Given the description of an element on the screen output the (x, y) to click on. 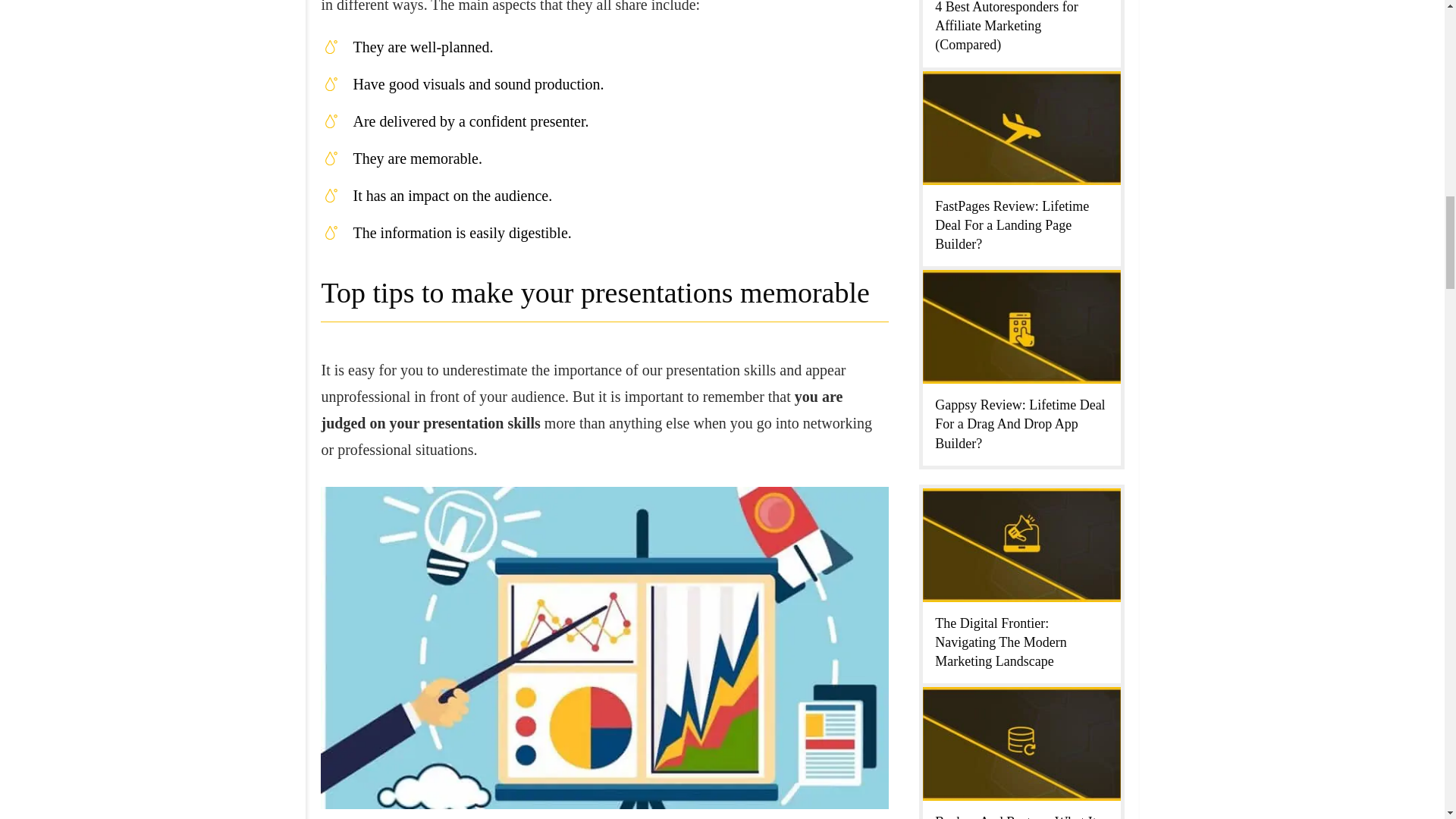
FastPages Review: Lifetime Deal For a Landing Page Builder? (1011, 225)
Backup And Restore: What It Means And How It Works (1015, 816)
